Given the description of an element on the screen output the (x, y) to click on. 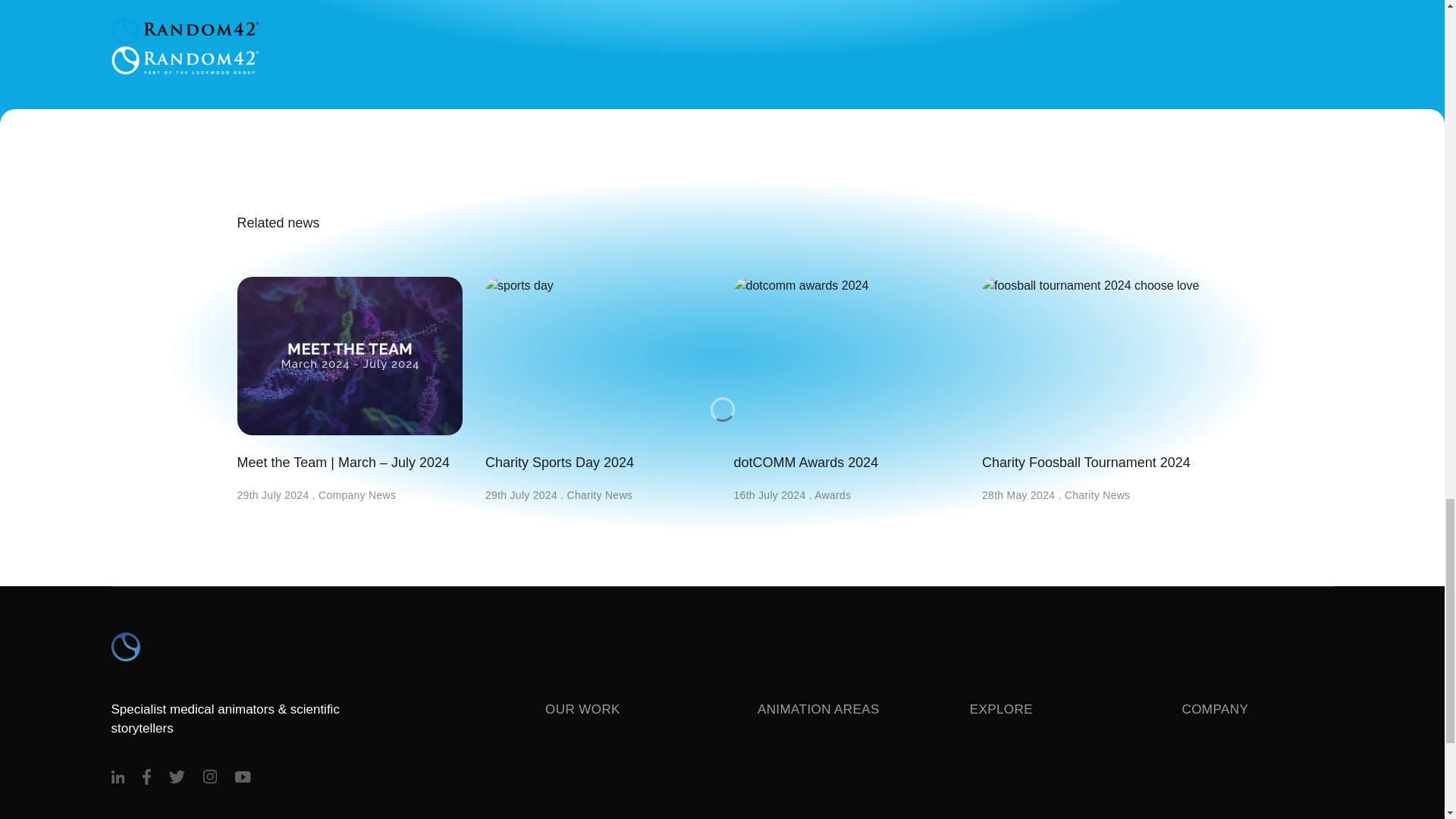
Charity News (600, 494)
Company News (357, 494)
Charity Sports Day 2024 (597, 373)
